Given the description of an element on the screen output the (x, y) to click on. 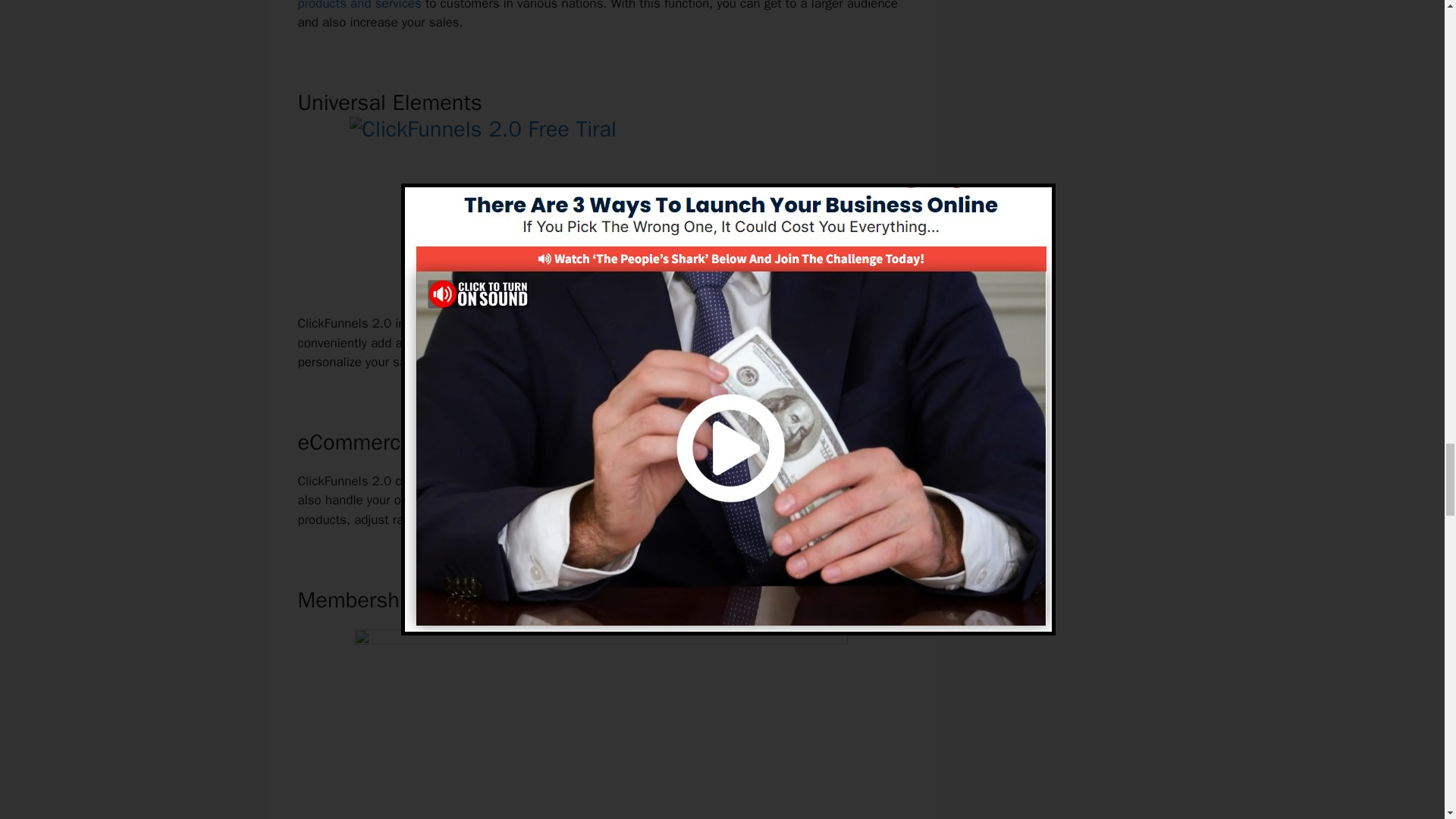
products and services (358, 5)
eCommerce (552, 499)
